Given the description of an element on the screen output the (x, y) to click on. 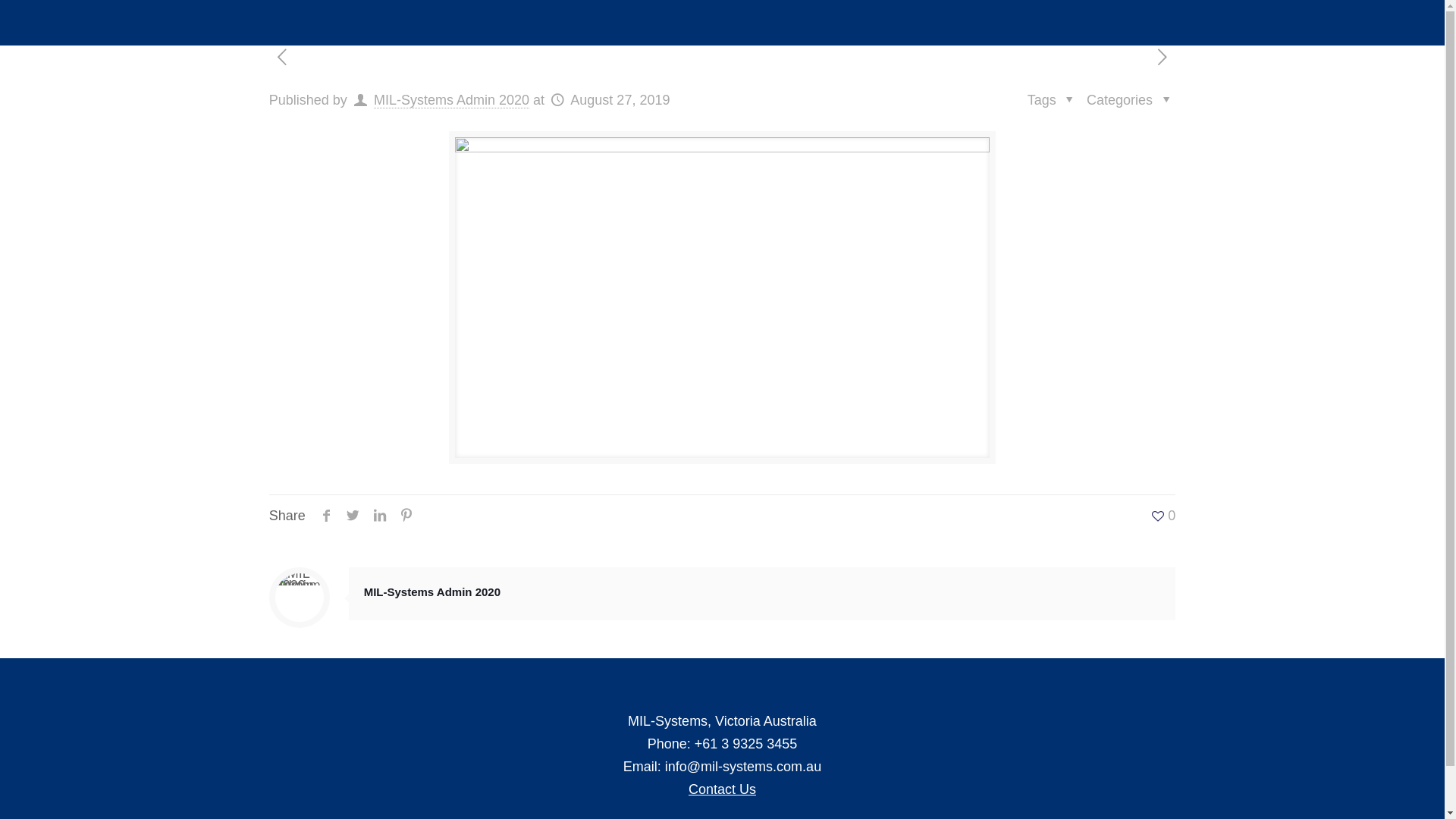
MIL-Systems Admin 2020 Element type: text (451, 100)
0 Element type: text (1162, 515)
Contact Us Element type: text (722, 789)
MIL-Systems Admin 2020 Element type: text (432, 591)
